Given the description of an element on the screen output the (x, y) to click on. 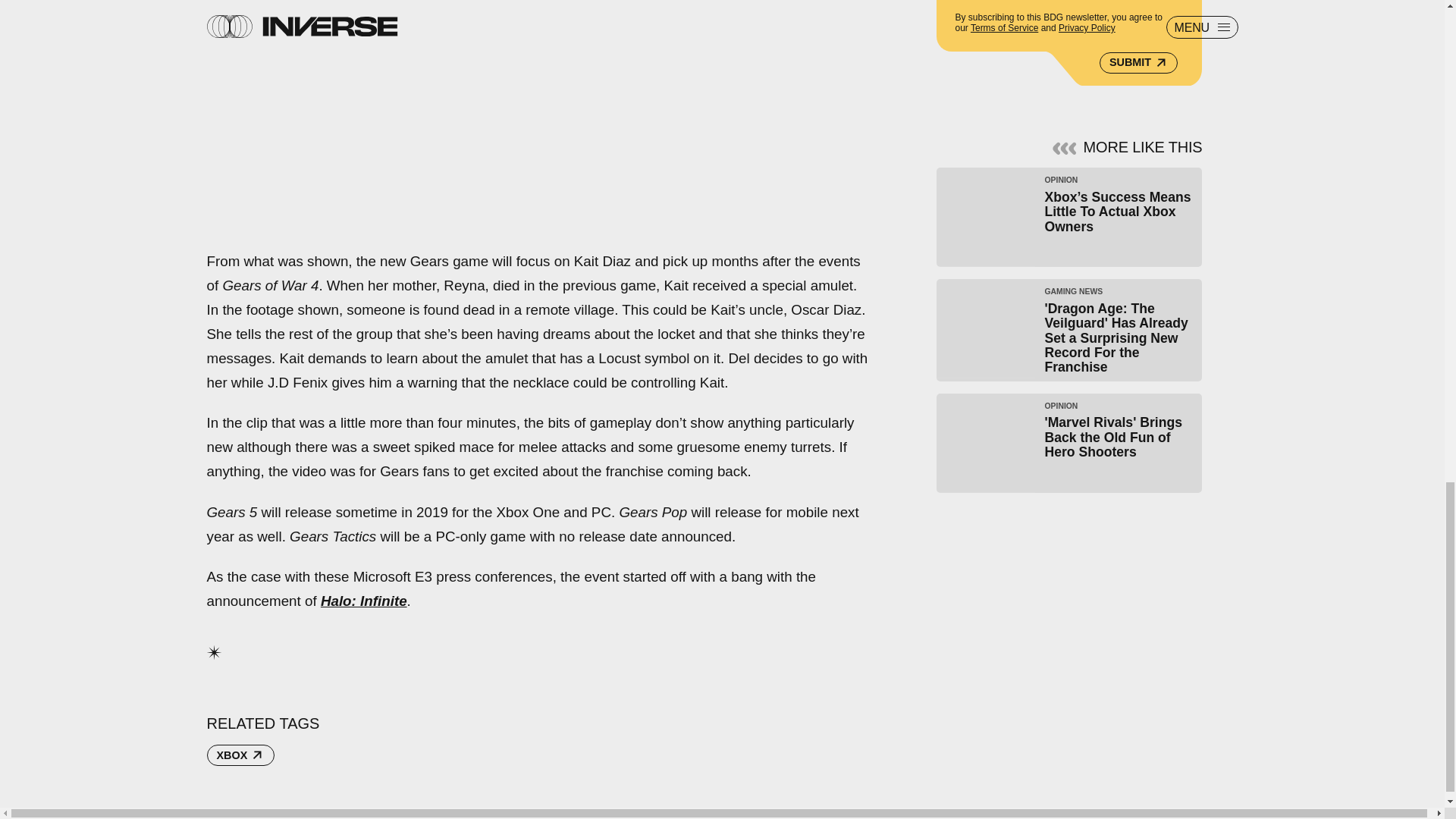
Halo: Infinite (363, 600)
Privacy Policy (1086, 27)
SUBMIT (1138, 61)
XBOX (239, 754)
Terms of Service (1004, 27)
